Given the description of an element on the screen output the (x, y) to click on. 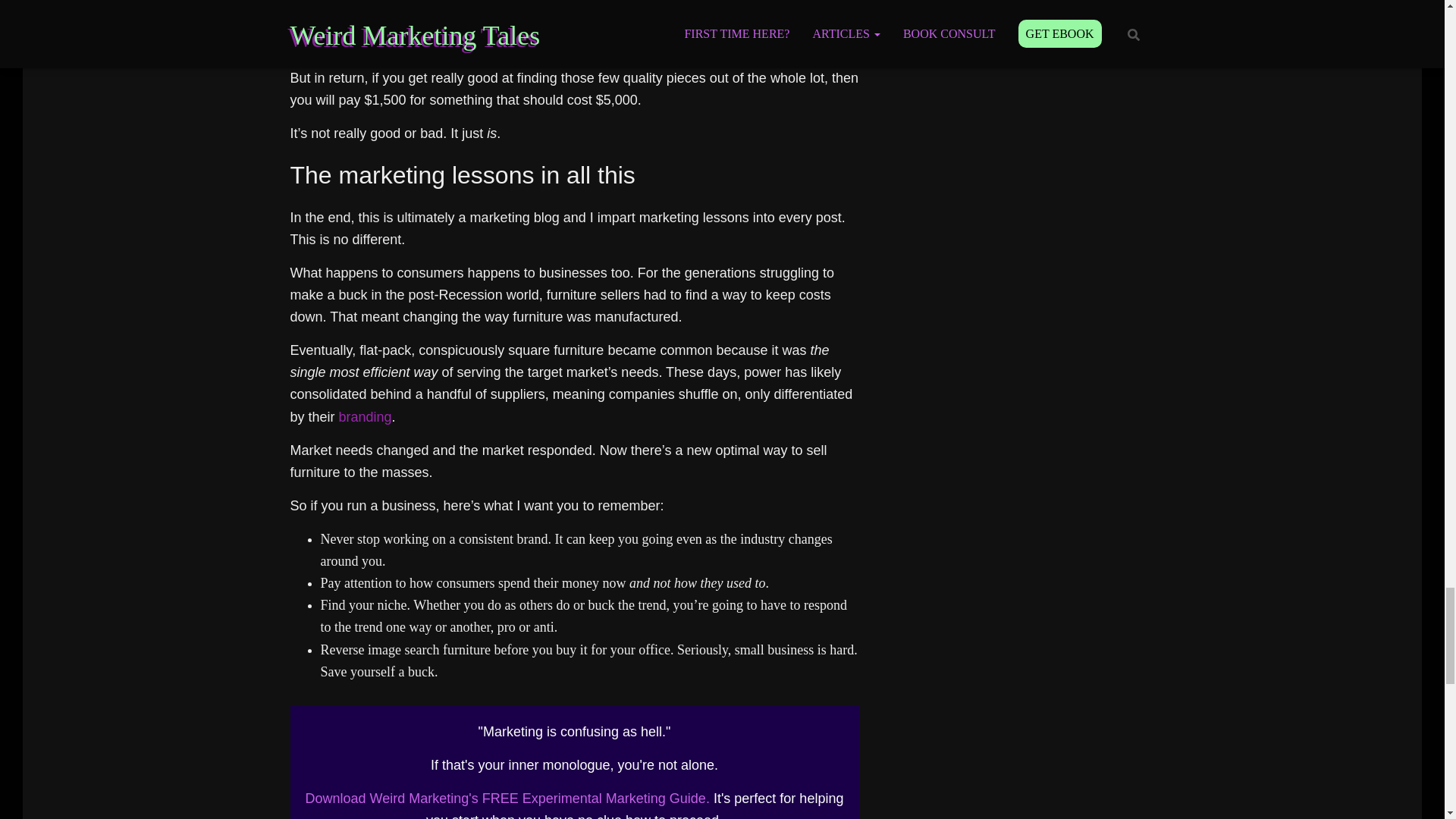
branding (365, 417)
How to Brand Your Small Business (365, 417)
